Given the description of an element on the screen output the (x, y) to click on. 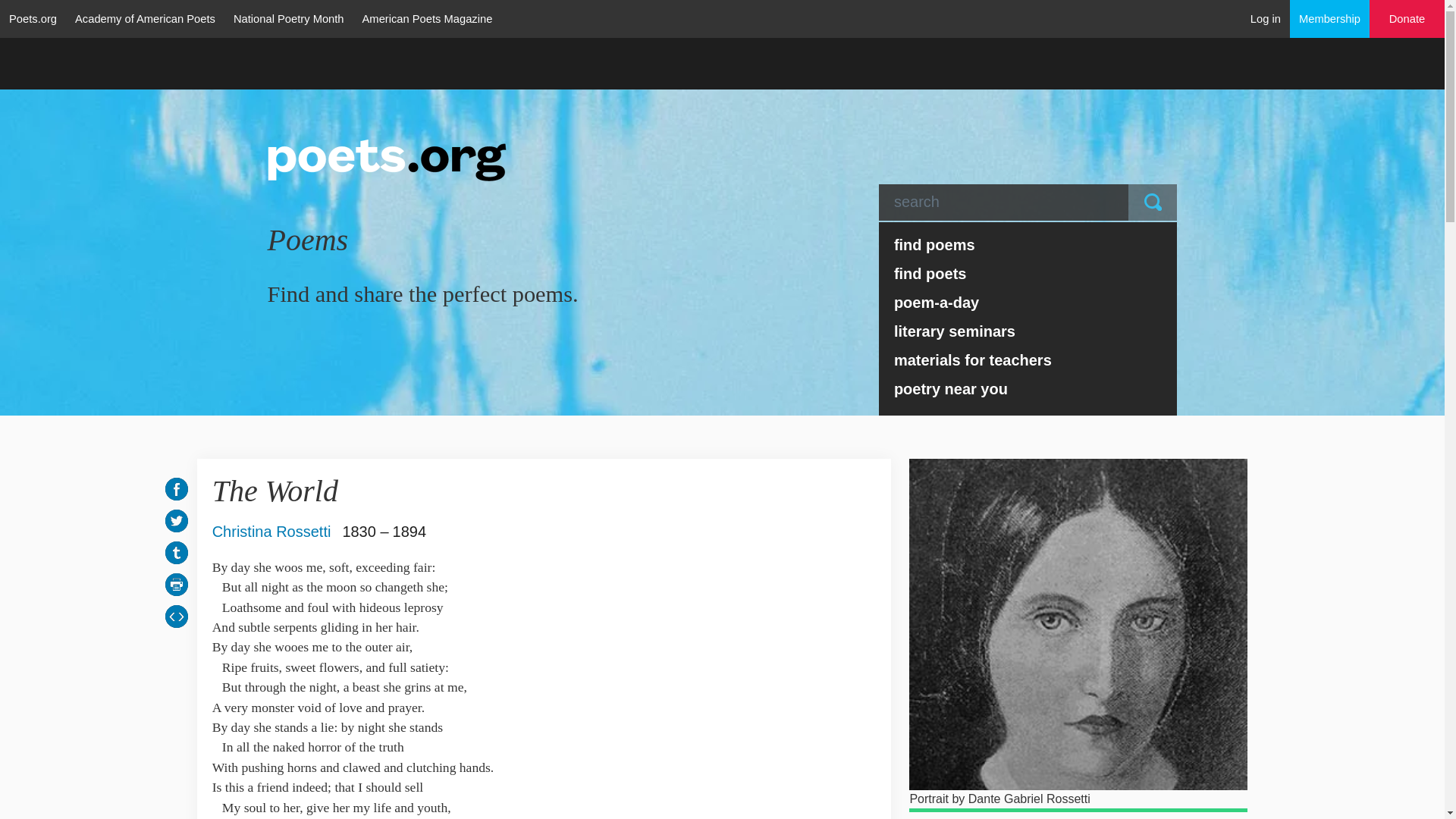
Donate (1407, 18)
poem-a-day (1028, 302)
Submit (1152, 201)
Poets.org (32, 18)
poetry near you (1028, 388)
Share on Facebook (176, 488)
Academy of American Poets (144, 18)
materials for teachers (1028, 359)
Become a member of the Academy of American Poets (1330, 18)
literary seminars (1028, 330)
literary seminars (1028, 330)
Portrait by Dante Gabriel Rossetti (1077, 624)
find poems (1028, 244)
Christina Rossetti (271, 531)
See print mode in new window (176, 584)
